Given the description of an element on the screen output the (x, y) to click on. 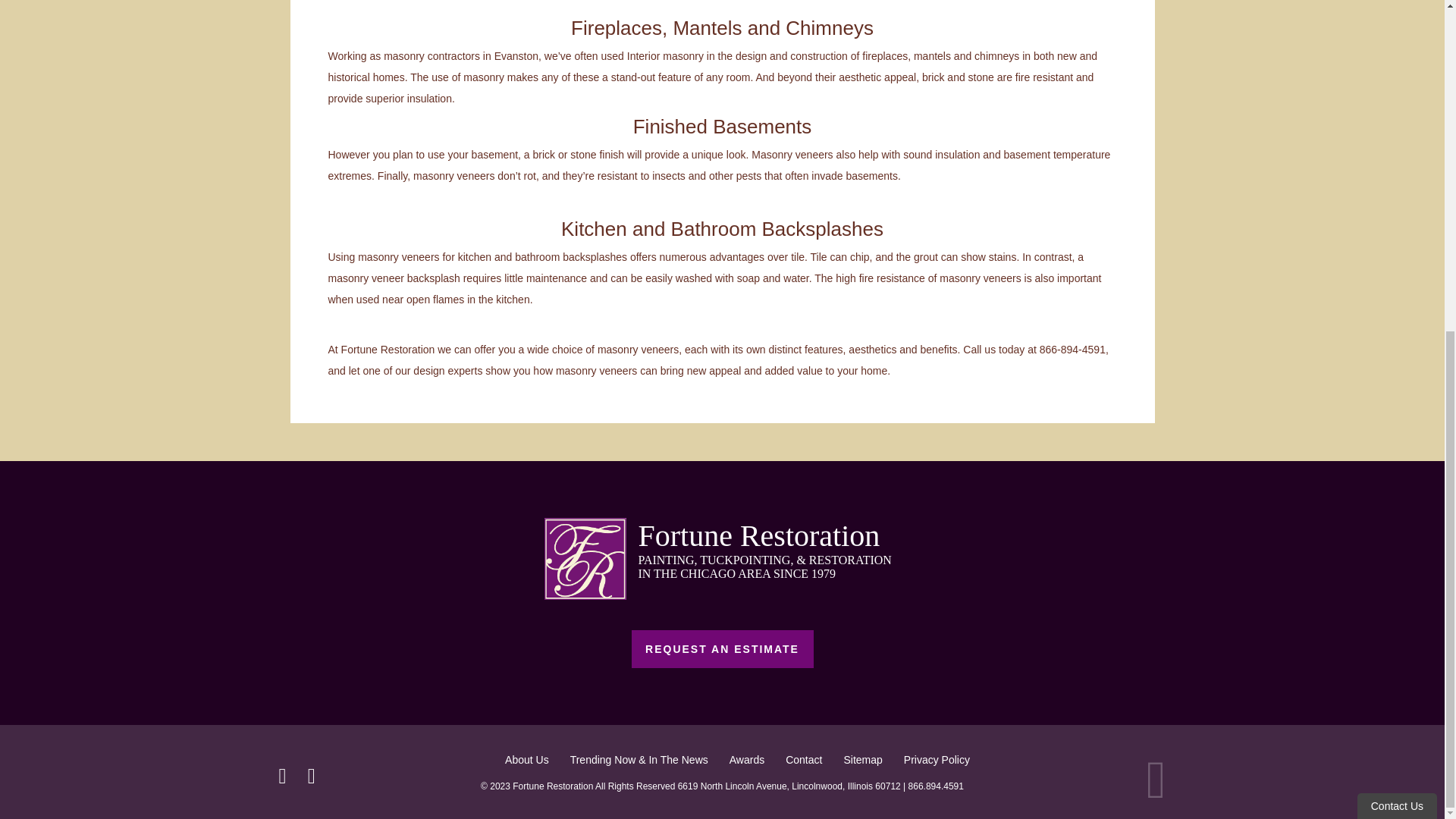
Contact Fortune Restoration (804, 759)
Awards (746, 759)
Sitemap (862, 759)
About Fortune Restoration (526, 759)
